Given the description of an element on the screen output the (x, y) to click on. 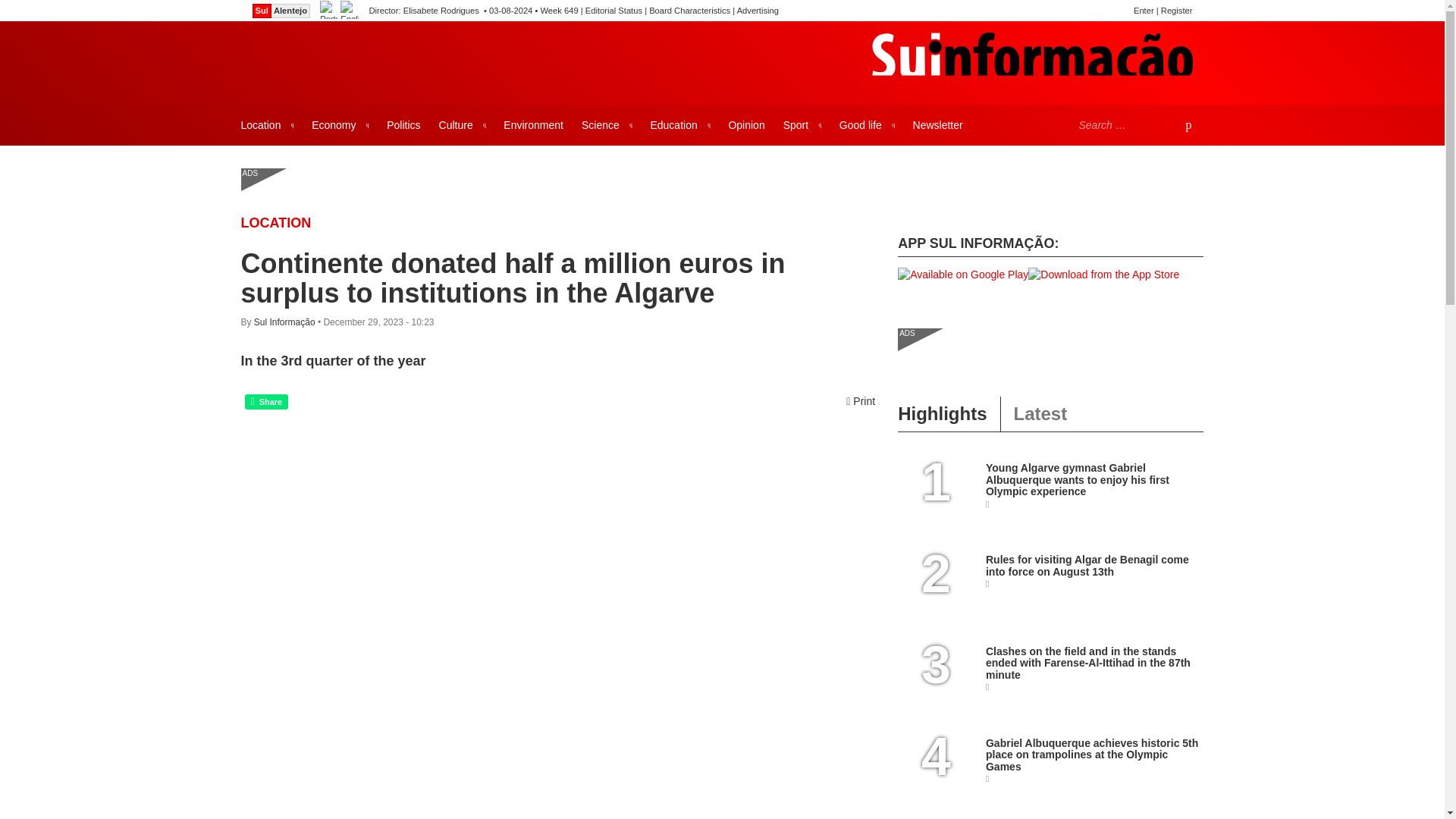
Advertising (757, 10)
Board Characteristics (689, 10)
Alentejo (290, 11)
Portuguese (328, 10)
Sul (260, 11)
English (349, 10)
Enter (1144, 10)
Economy (339, 124)
Share on Whatsapp (266, 401)
Location (266, 124)
Location (276, 222)
Register (1176, 10)
Editorial Status (613, 10)
